Given the description of an element on the screen output the (x, y) to click on. 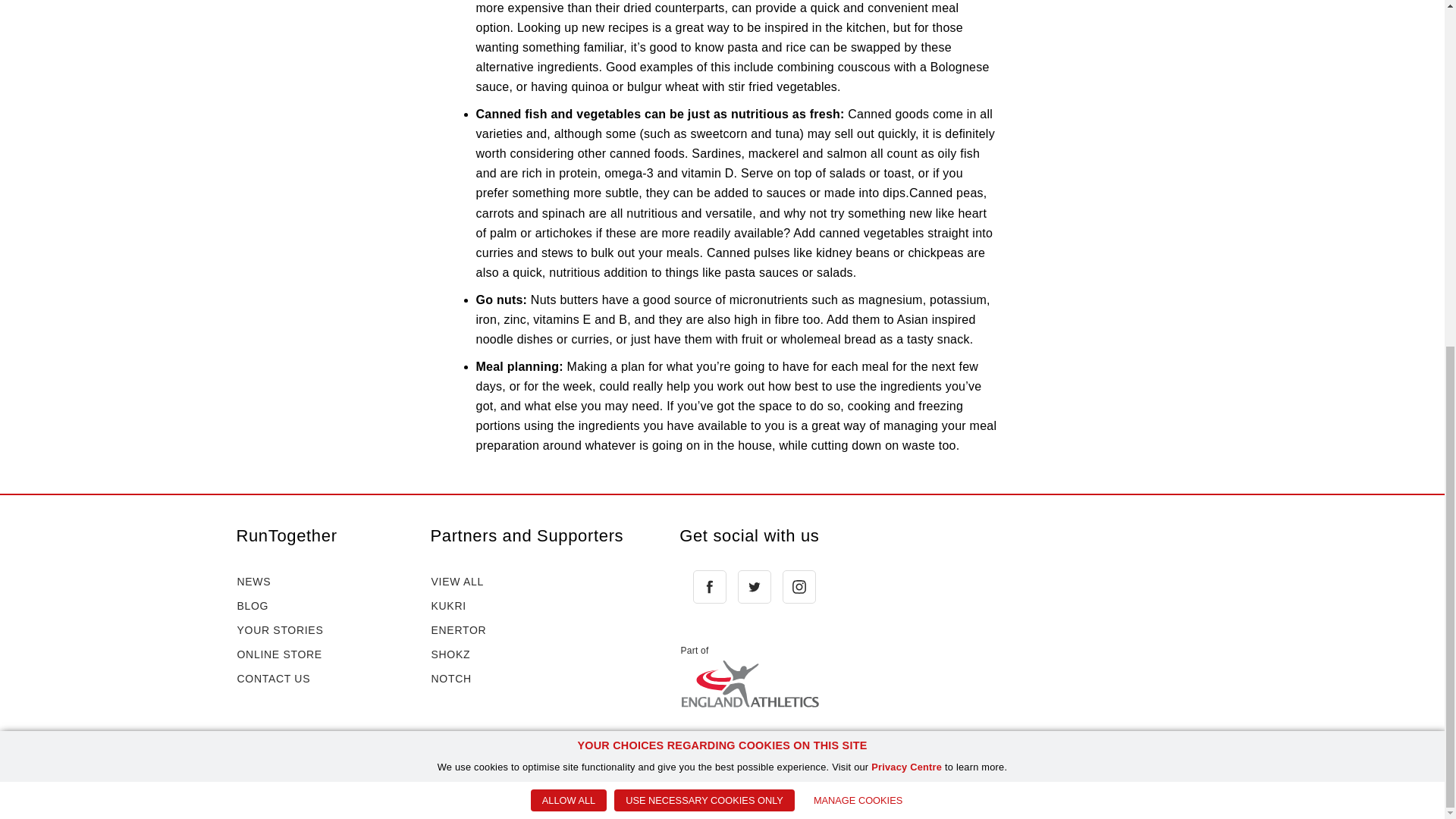
MANAGE COOKIES (858, 205)
